Given the description of an element on the screen output the (x, y) to click on. 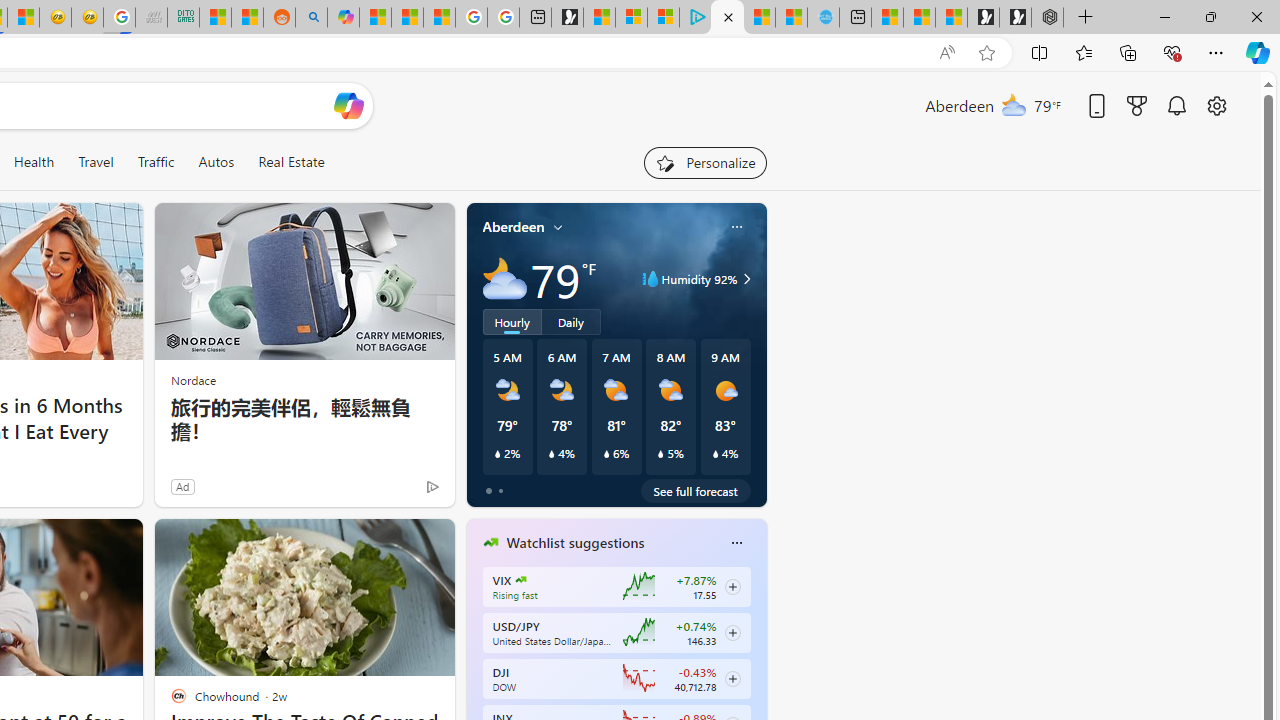
Class: follow-button  m (732, 678)
Daily (571, 321)
tab-0 (488, 490)
